Given the description of an element on the screen output the (x, y) to click on. 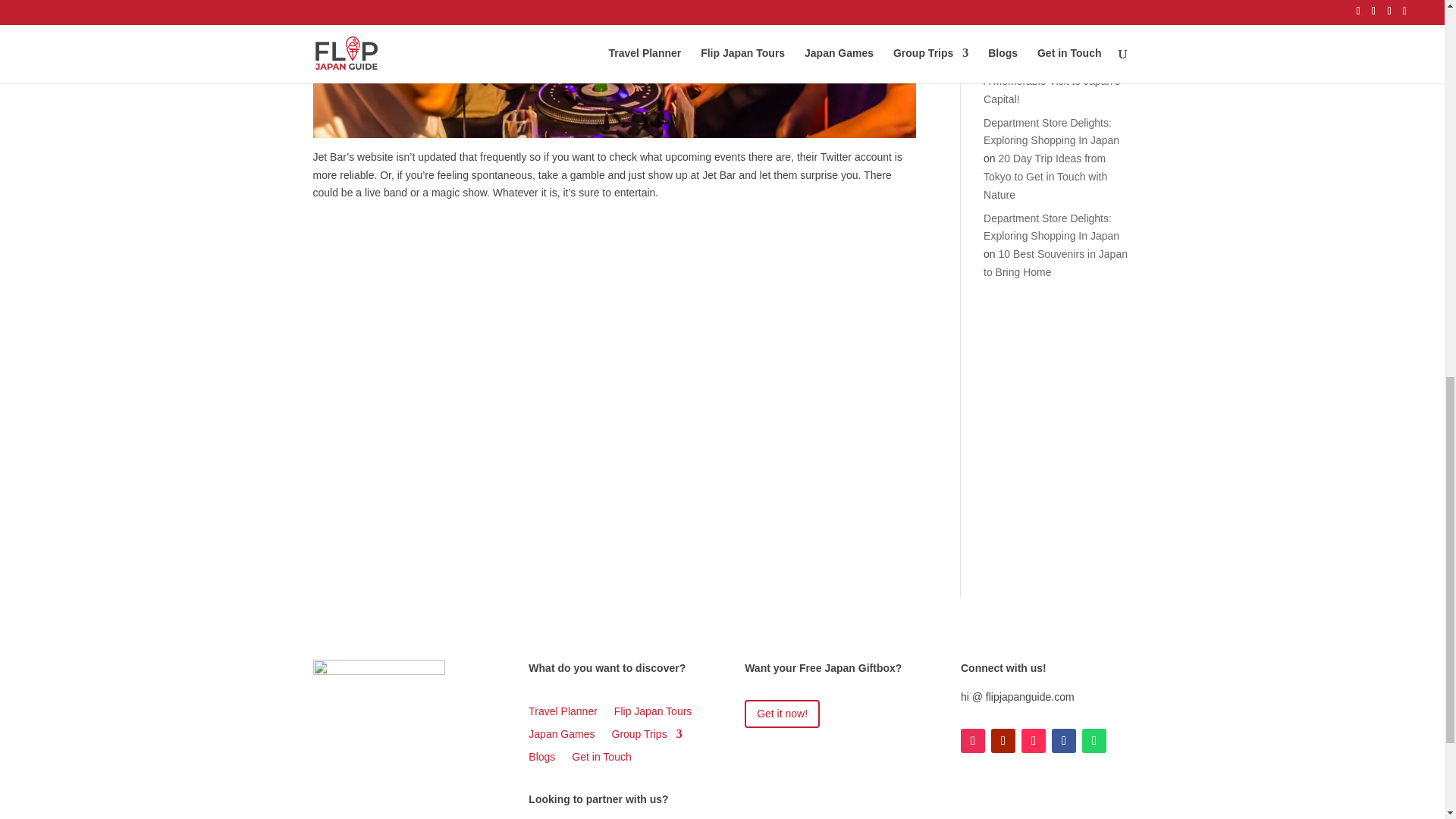
20 Day Trip Ideas from Tokyo to Get in Touch with Nature (1045, 176)
Get it now! (781, 713)
footer-logo (378, 685)
10 Best Souvenirs in Japan to Bring Home (1055, 263)
Follow on Facebook (1063, 740)
Department Store Delights: Exploring Shopping In Japan (1051, 132)
Travel Planner (562, 713)
Follow on TikTok (1033, 740)
Follow on WhatsApp (1093, 740)
